Given the description of an element on the screen output the (x, y) to click on. 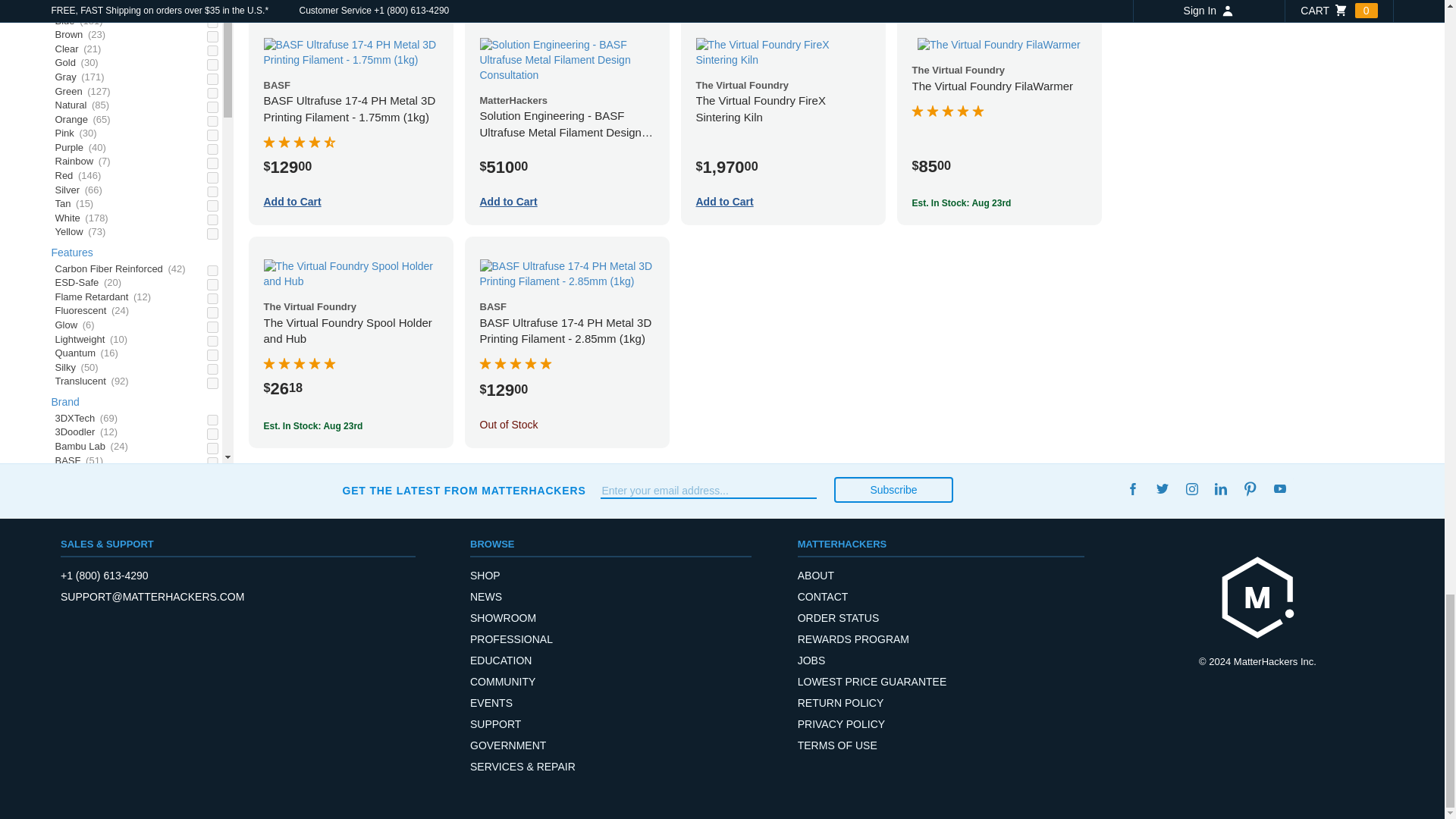
The Virtual Foundry FilaWarmer (998, 45)
